Given the description of an element on the screen output the (x, y) to click on. 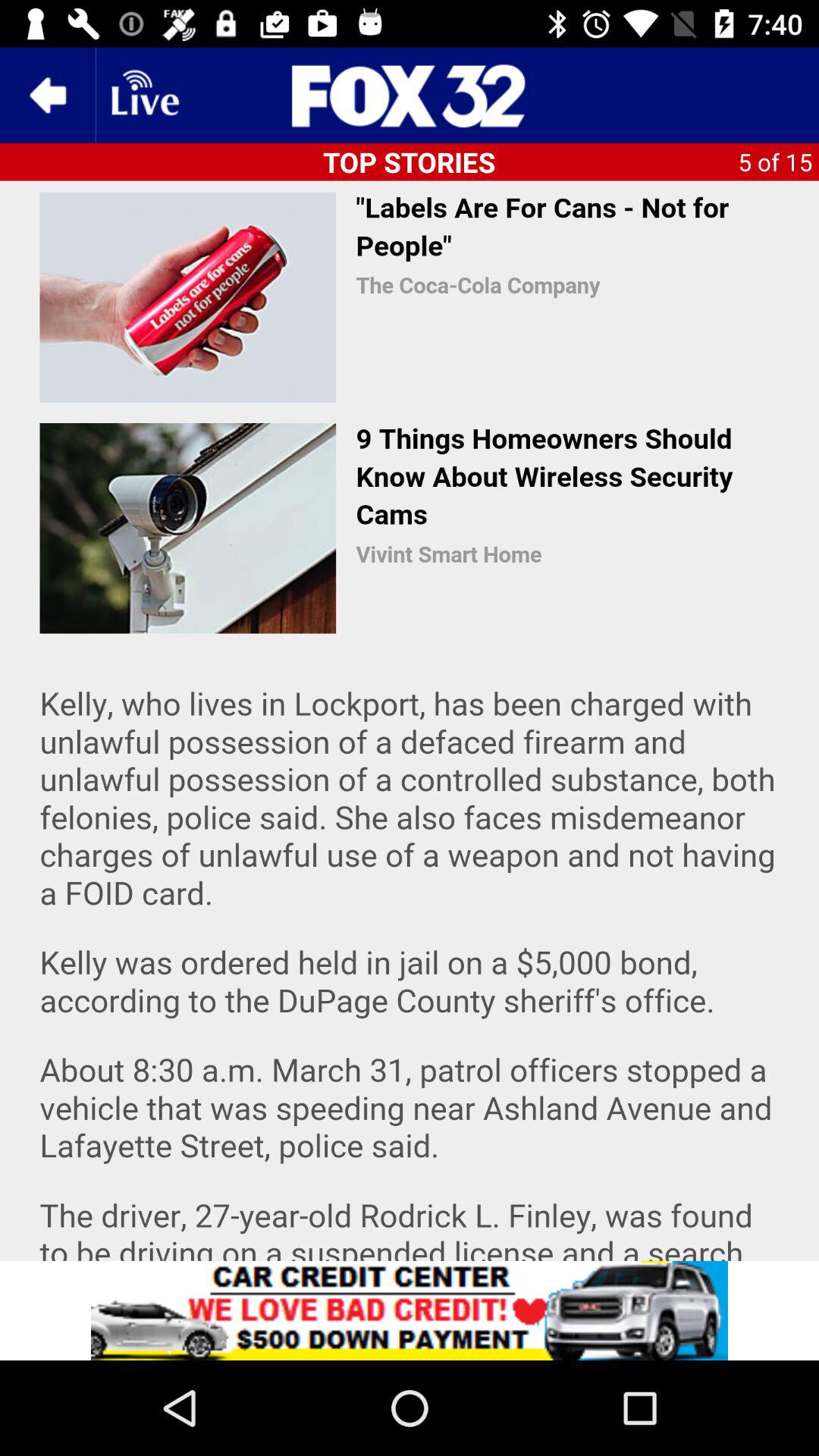
live video (143, 95)
